Given the description of an element on the screen output the (x, y) to click on. 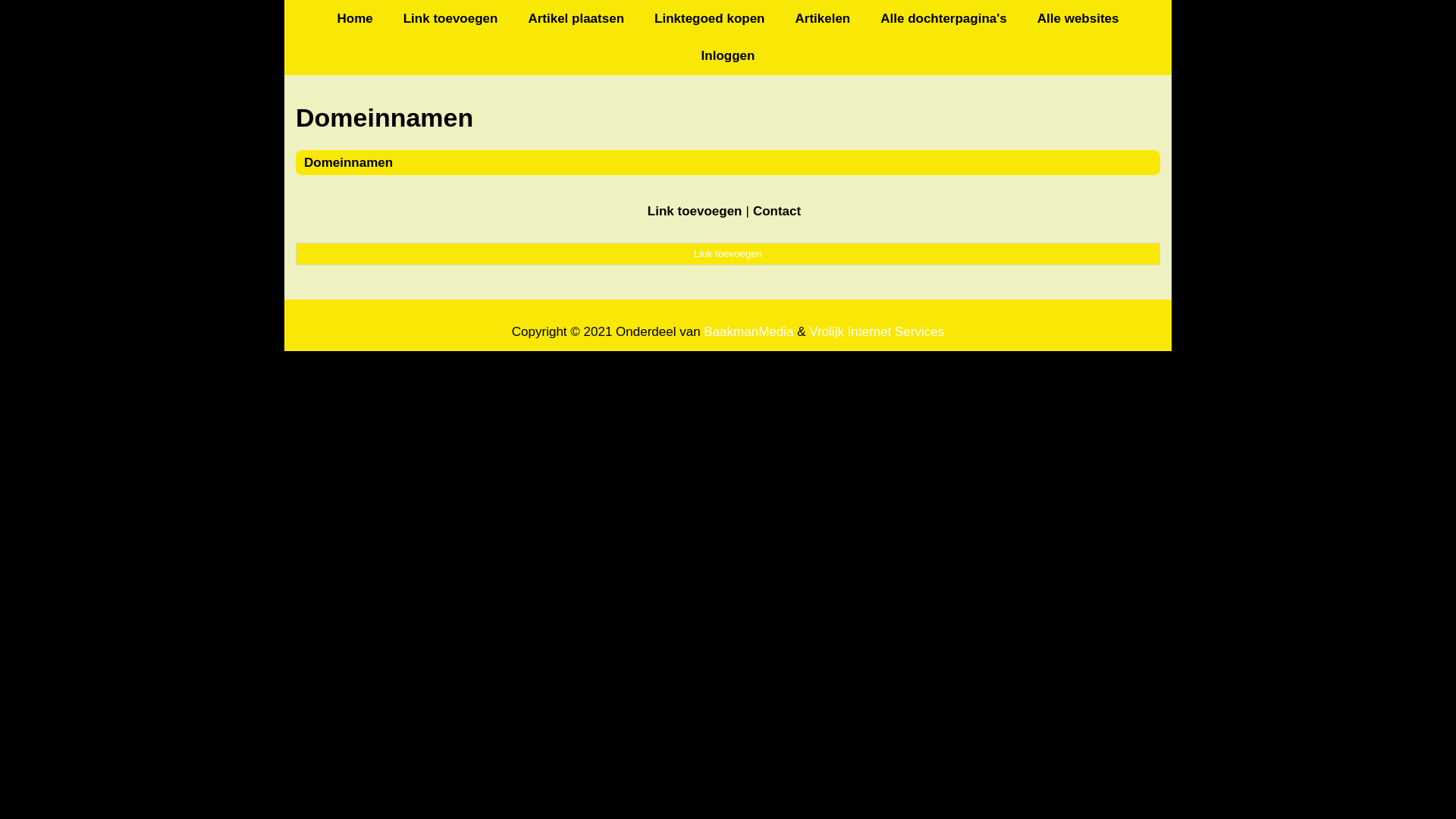
Alle websites Element type: text (1078, 18)
Domeinnamen Element type: text (727, 117)
Home Element type: text (354, 18)
Link toevoegen Element type: text (727, 253)
Domeinnamen Element type: text (348, 162)
Contact Element type: text (776, 210)
Link toevoegen Element type: text (694, 210)
Link toevoegen Element type: text (450, 18)
Alle dochterpagina's Element type: text (943, 18)
BaakmanMedia Element type: text (748, 331)
Vrolijk Internet Services Element type: text (876, 331)
Linktegoed kopen Element type: text (709, 18)
Inloggen Element type: text (728, 55)
Artikel plaatsen Element type: text (575, 18)
Artikelen Element type: text (822, 18)
